Given the description of an element on the screen output the (x, y) to click on. 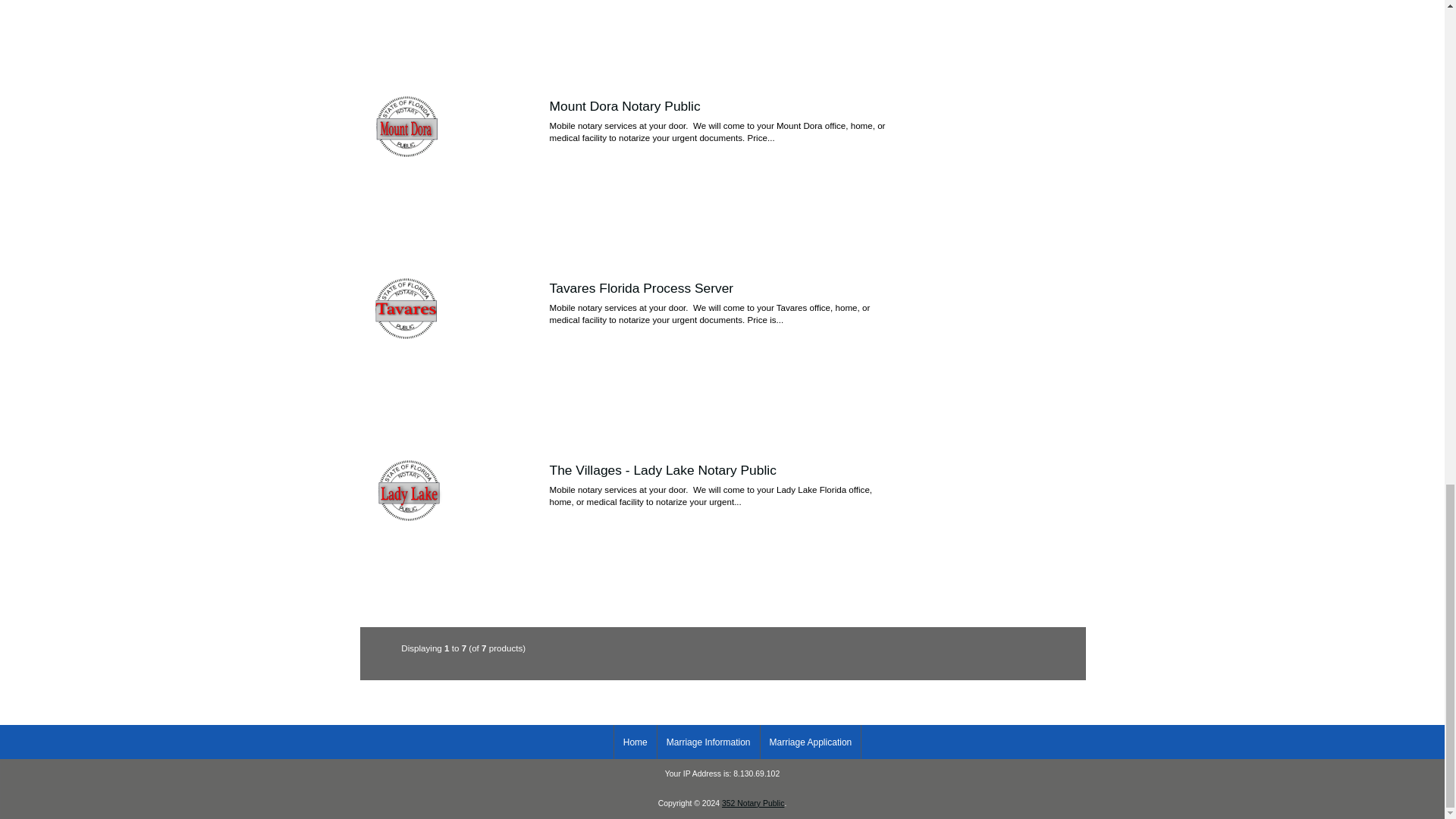
Tavares Florida Process Server (641, 287)
Marriage Information (709, 741)
Mount Dora Notary Public (625, 105)
Home (635, 741)
352 Notary Public (753, 803)
The Villages - Lady Lake Notary Public (663, 469)
 The Villages - Lady Lake Notary Public  (408, 490)
 Tavares Florida Process Server  (405, 308)
 Mount Dora Notary Public  (406, 126)
Marriage Application (810, 741)
